Given the description of an element on the screen output the (x, y) to click on. 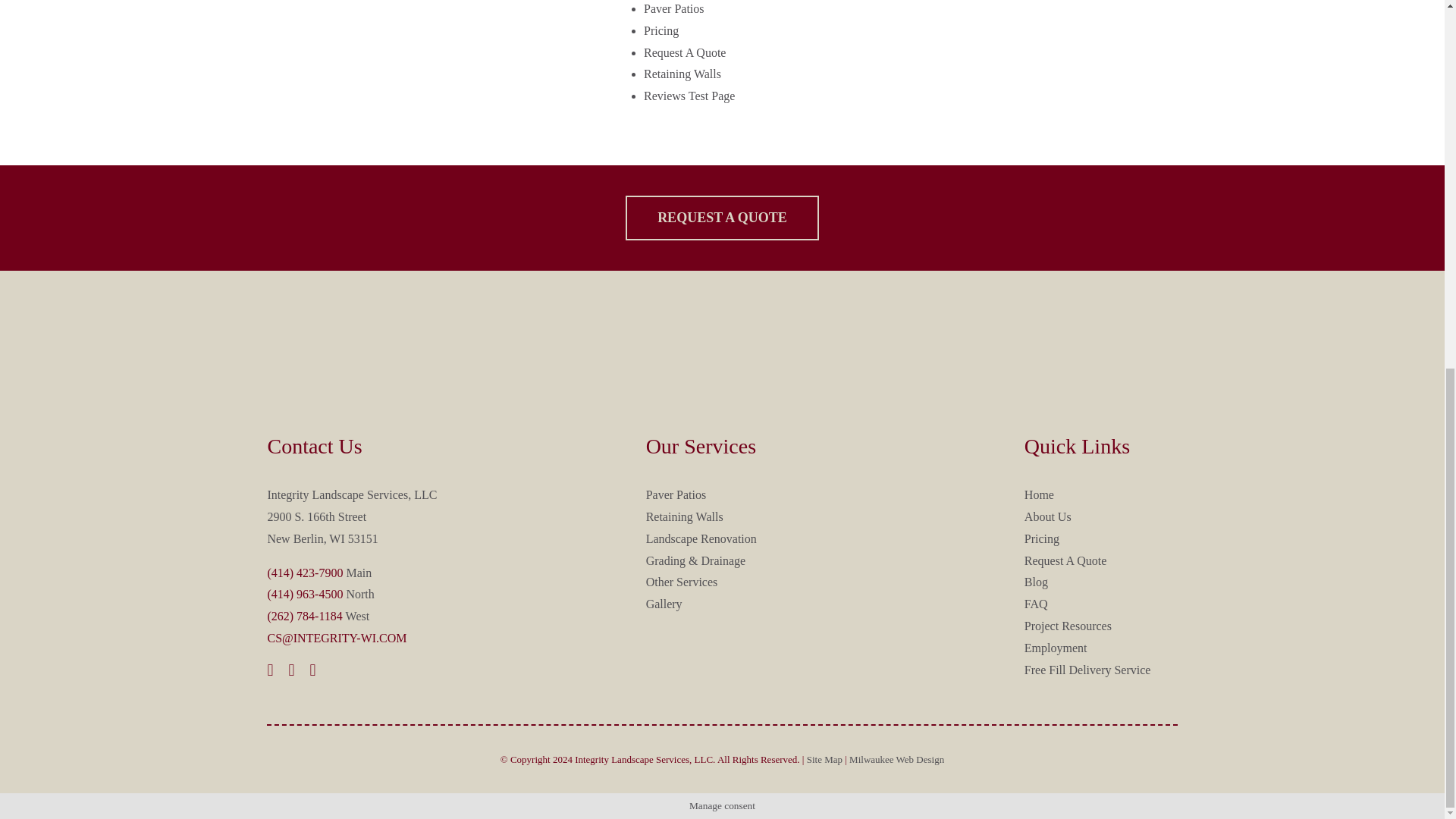
Paver Patios (673, 8)
Request A Quote (684, 51)
Retaining Walls (681, 73)
Pricing (660, 30)
